Given the description of an element on the screen output the (x, y) to click on. 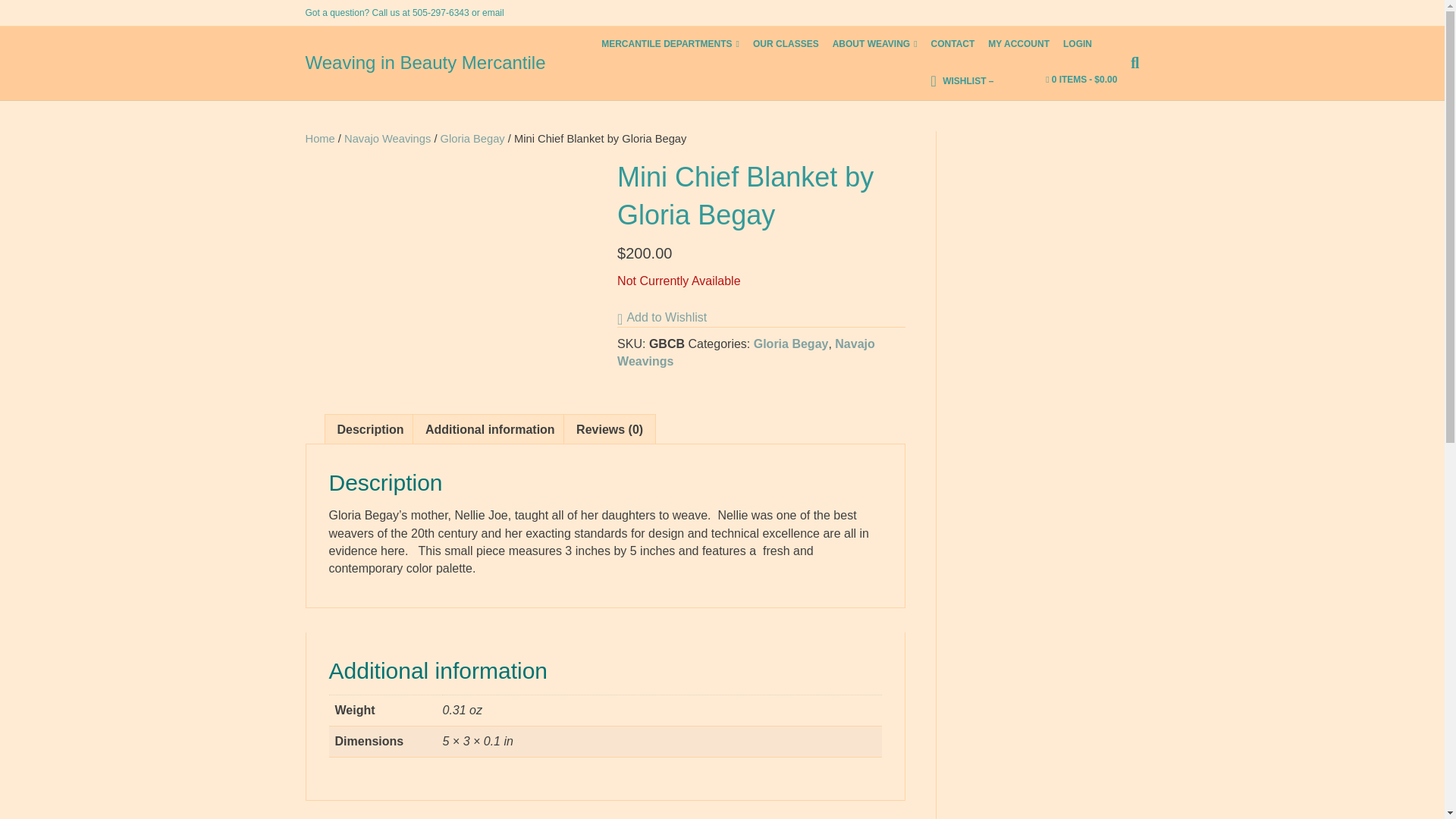
MERCANTILE DEPARTMENTS (669, 44)
email (492, 12)
LOGIN (1078, 44)
Start shopping (1081, 79)
OUR CLASSES (785, 44)
MY ACCOUNT (1019, 44)
CONTACT (952, 44)
Weaving in Beauty Mercantile (438, 62)
ABOUT WEAVING (874, 44)
